Given the description of an element on the screen output the (x, y) to click on. 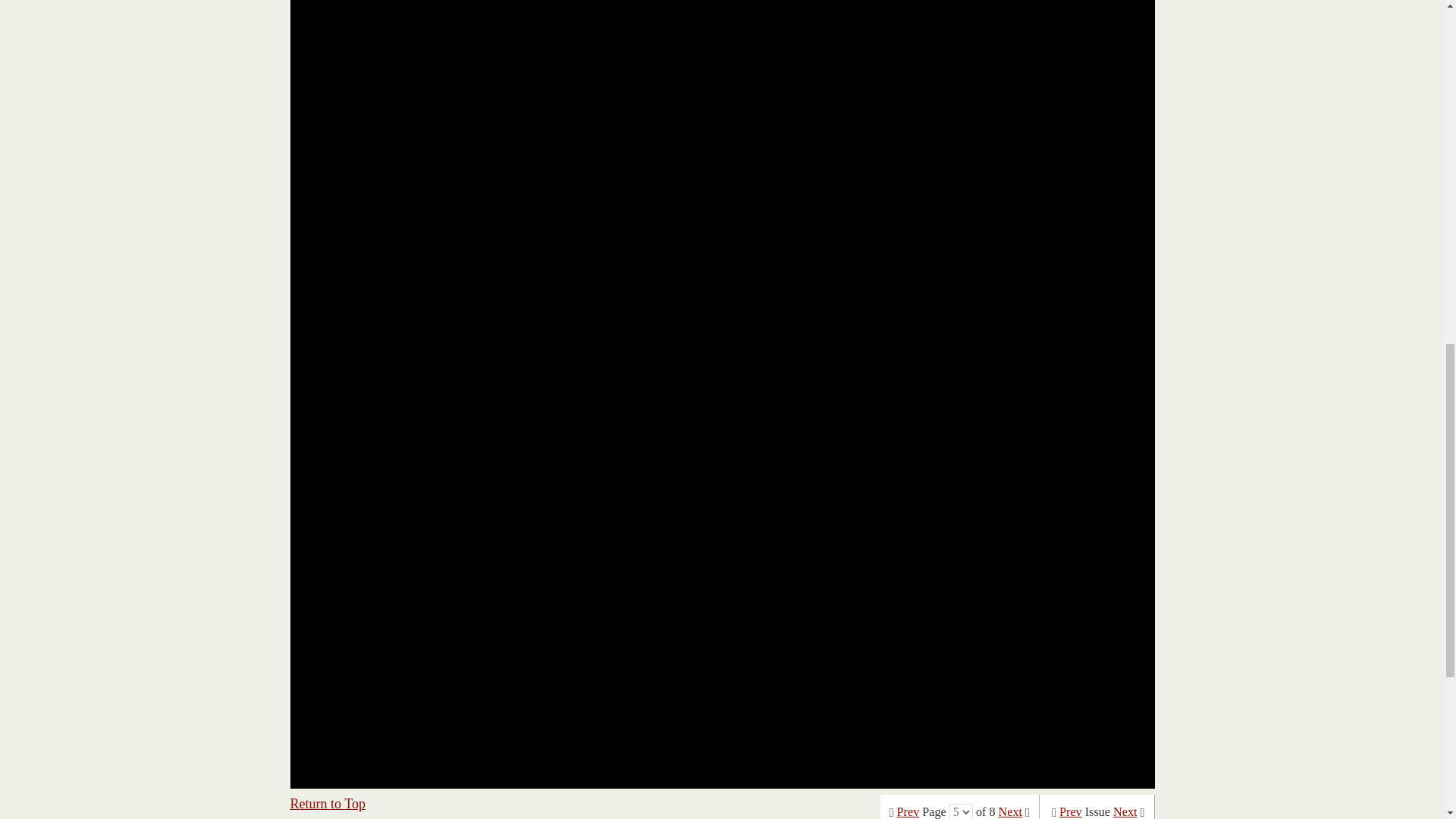
Prev (1070, 812)
Next (1010, 812)
Prev (908, 812)
Next (1125, 812)
Return to Top (327, 803)
